Given the description of an element on the screen output the (x, y) to click on. 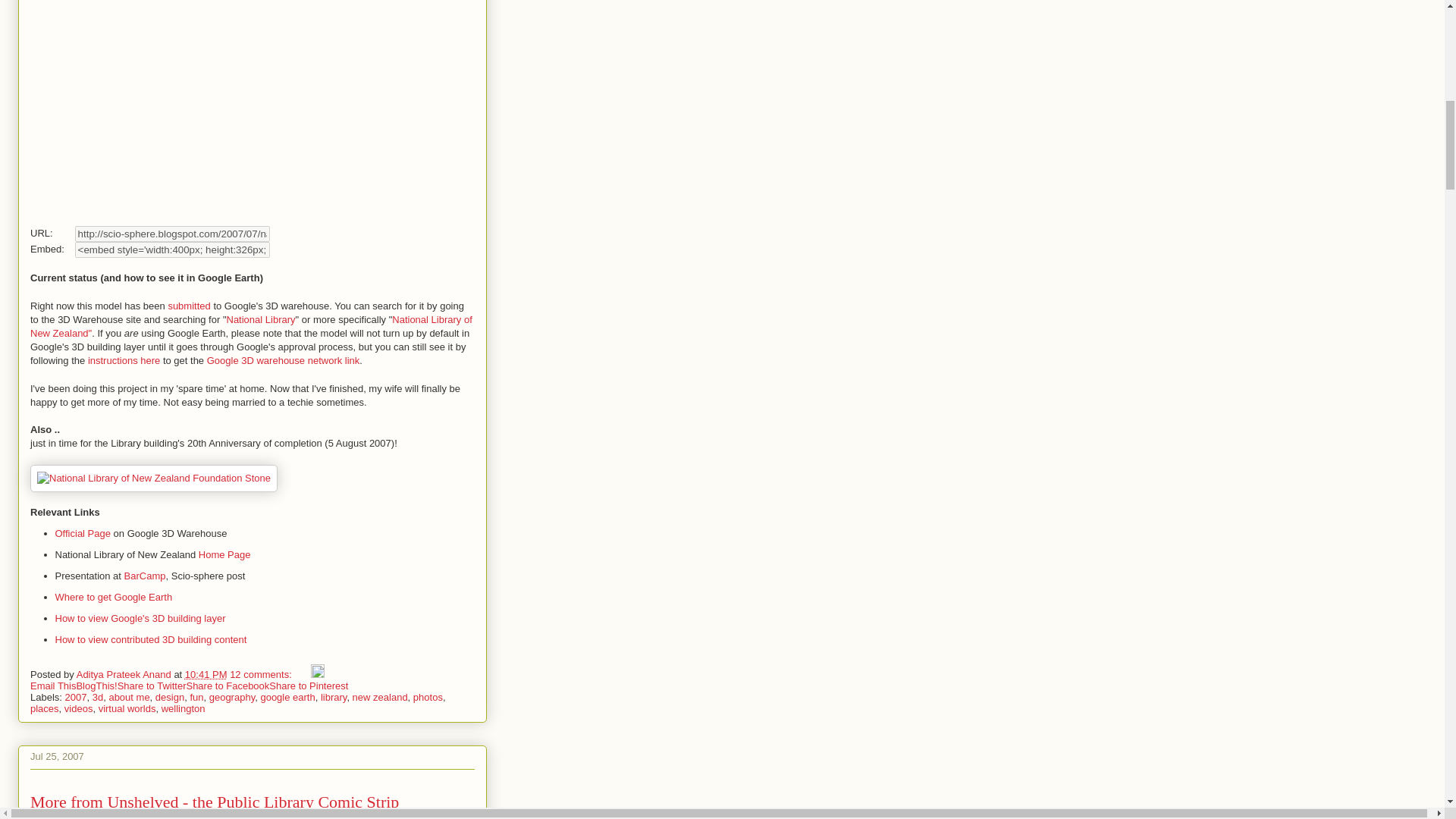
National Library of New Zealand" (250, 326)
2007 (76, 696)
Official Page (82, 532)
submitted (188, 306)
design (169, 696)
12 comments: (262, 674)
Where to get Google Earth (113, 596)
Official Page on Google 3D Warehouse (82, 532)
library (333, 696)
new zealand (379, 696)
